Given the description of an element on the screen output the (x, y) to click on. 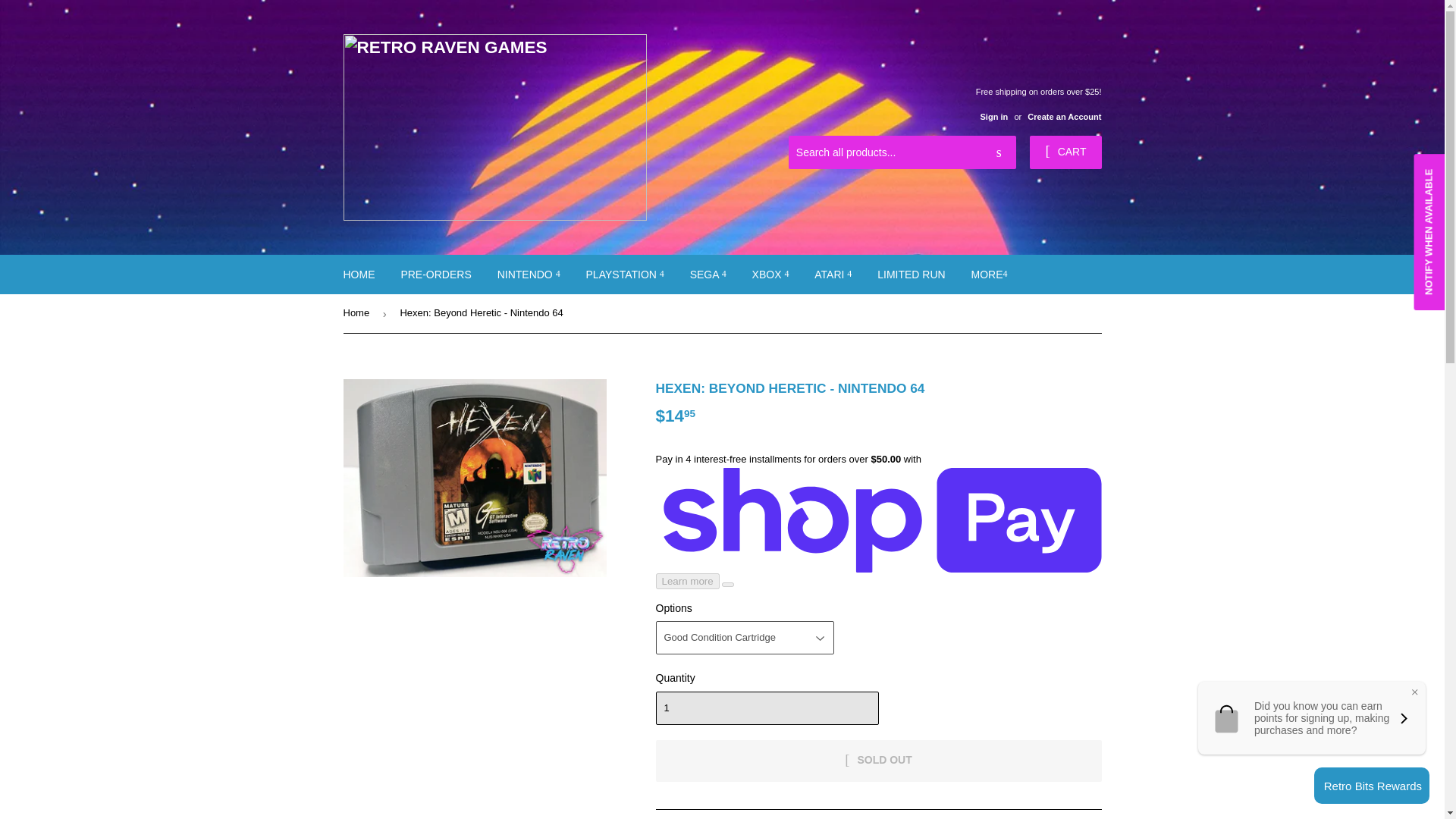
Sign in (993, 116)
LoyaltyLion beacon (1371, 785)
CART (1064, 151)
Search (998, 152)
1 (766, 707)
Create an Account (1063, 116)
